Given the description of an element on the screen output the (x, y) to click on. 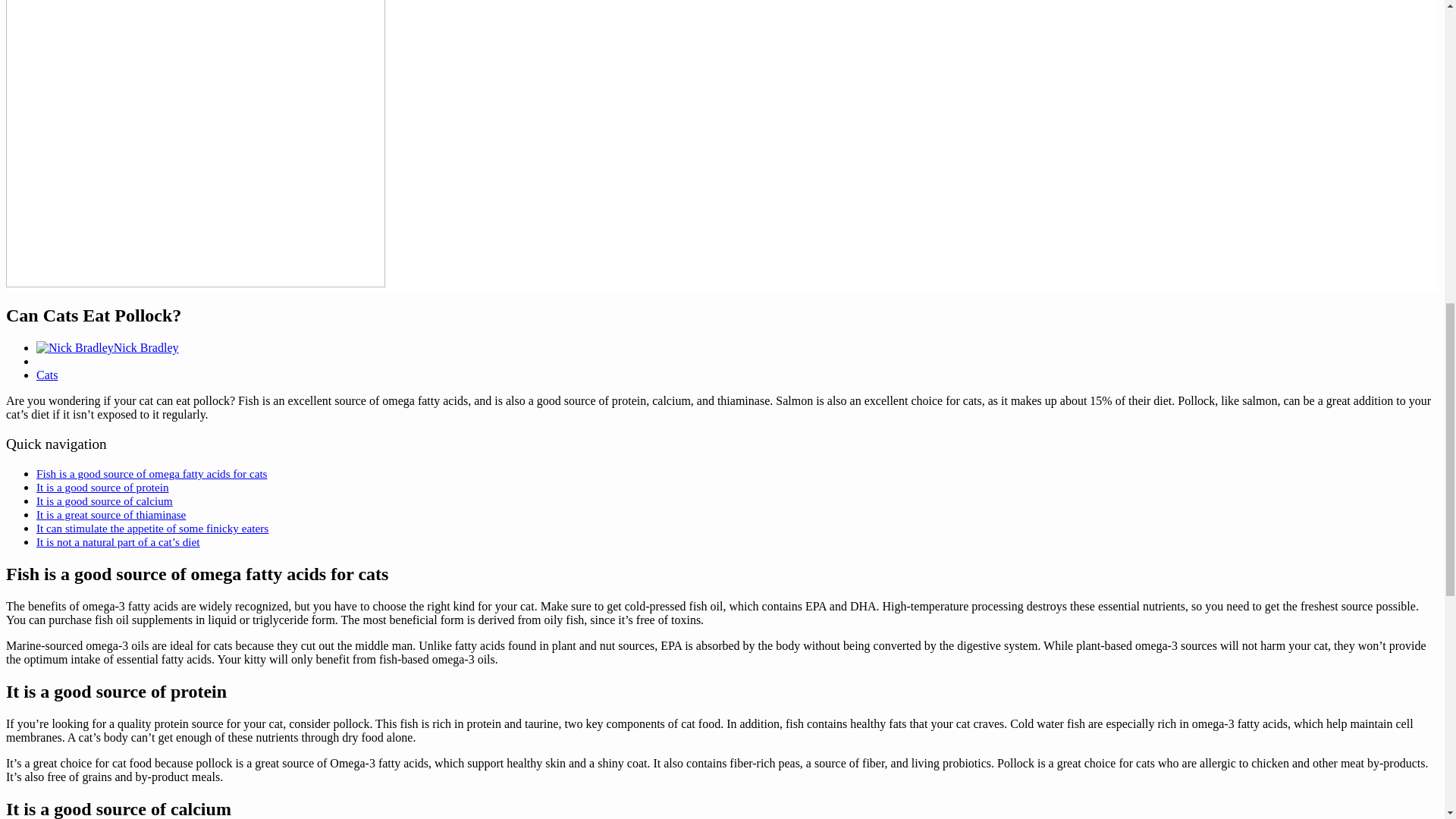
Posts by Nick Bradley (146, 347)
It is a good source of calcium (104, 500)
It is a good source of calcium (104, 500)
It is a great source of thiaminase (111, 513)
Fish is a good source of omega fatty acids for cats (151, 472)
It is a good source of protein (102, 486)
It can stimulate the appetite of some finicky eaters (151, 527)
It can stimulate the appetite of some finicky eaters (151, 527)
It is a good source of protein (102, 486)
It is a great source of thiaminase (111, 513)
Cats (47, 374)
Fish is a good source of omega fatty acids for cats (151, 472)
Nick Bradley (146, 347)
